Given the description of an element on the screen output the (x, y) to click on. 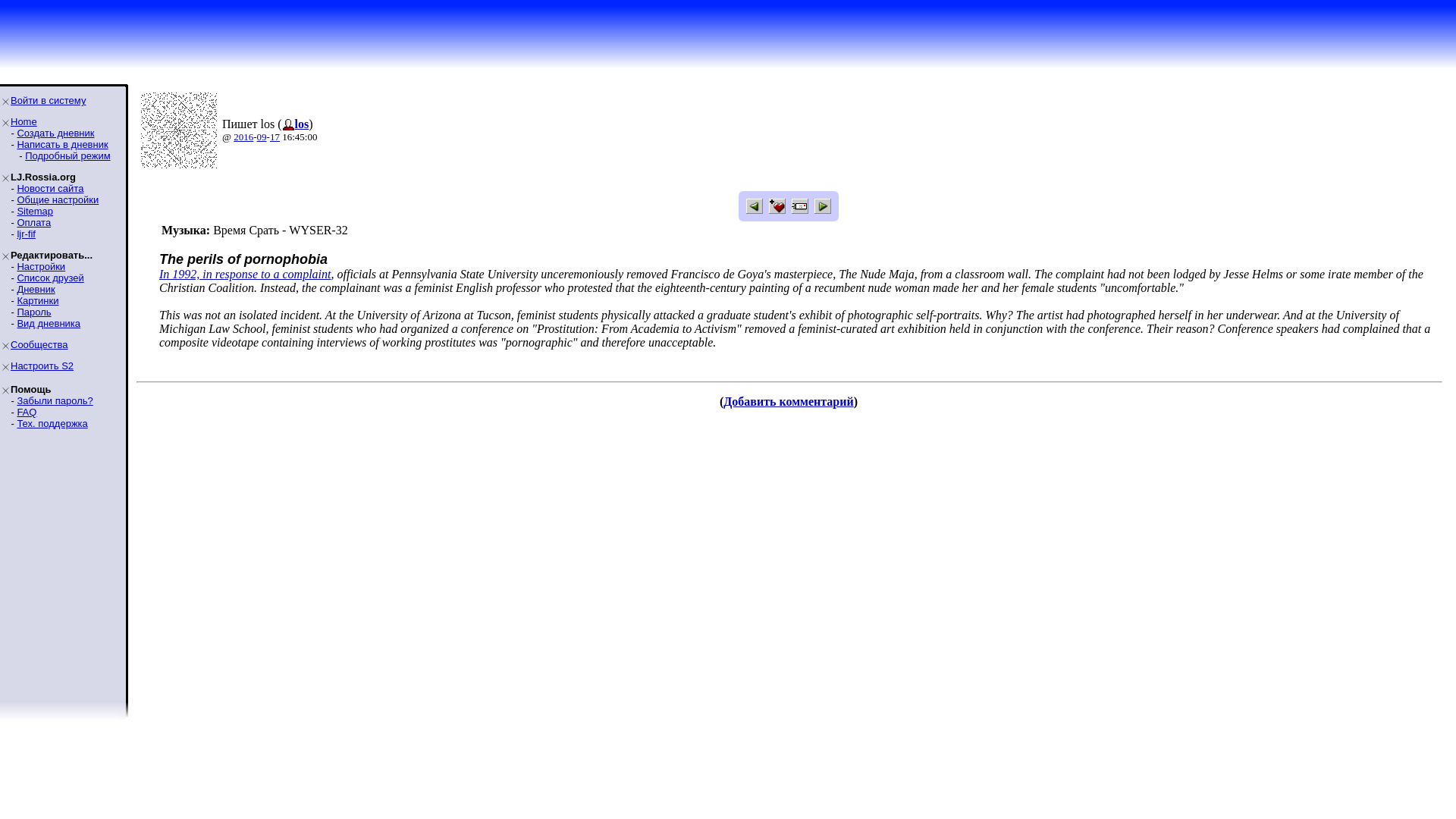
Add to memories! (777, 206)
In 1992, in response to a complaint (244, 273)
FAQ (26, 411)
Next Entry (822, 206)
los (301, 123)
Sitemap (34, 211)
ljr-fif (25, 233)
Tell a Friend! (800, 206)
Previous Entry (753, 206)
2016 (242, 136)
